Given the description of an element on the screen output the (x, y) to click on. 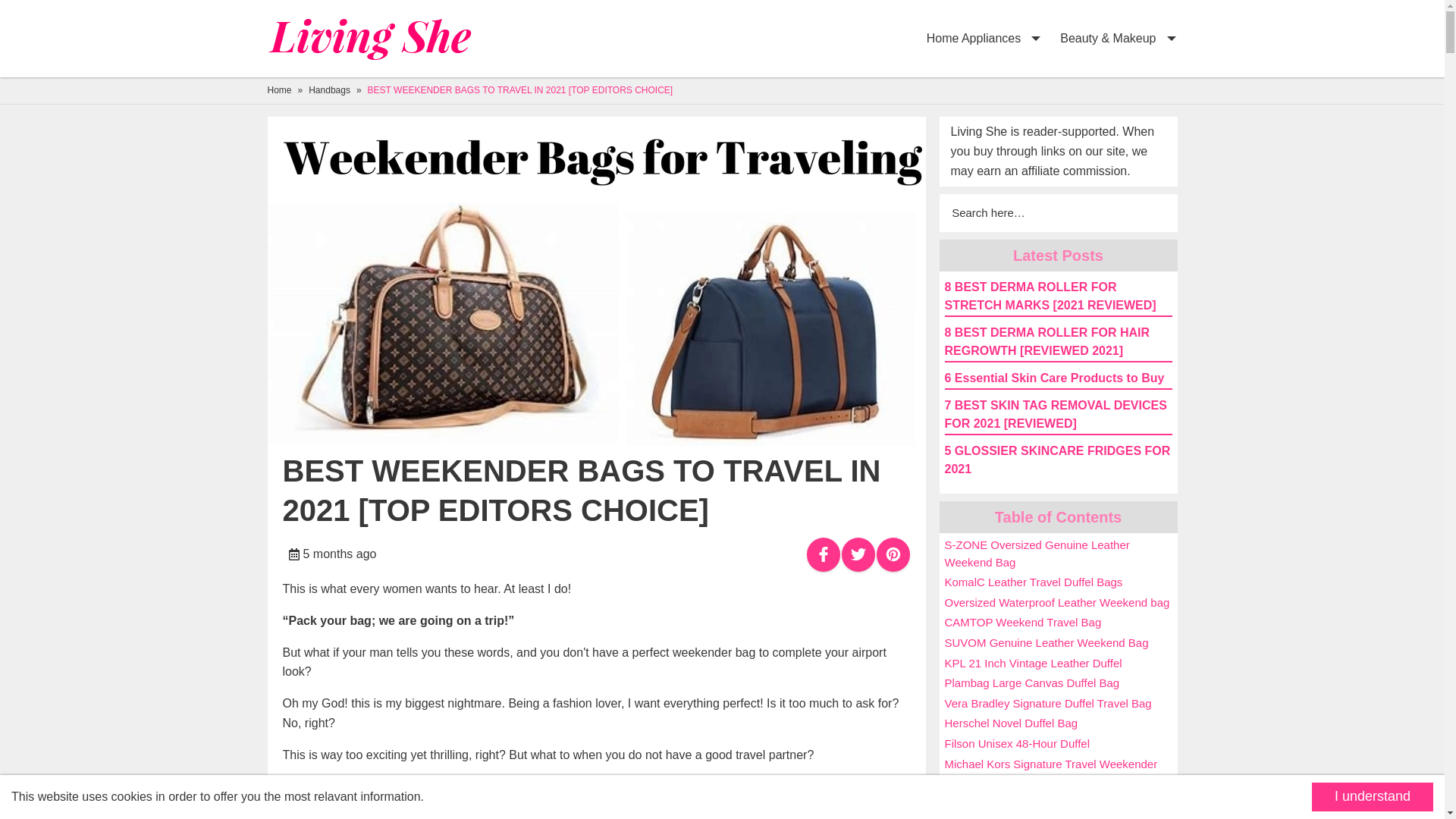
Herschel Novel Duffel Bag (1011, 722)
SUVOM Genuine Leather Weekend Bag (1046, 642)
Plambag Large Canvas Duffel Bag (1031, 682)
KomalC Leather Travel Duffel Bags (1033, 581)
Living She (376, 38)
Vera Bradley Signature Duffel Travel Bag (1047, 703)
The Friendly Swede Weekender Bag (1037, 803)
Oversized Waterproof Leather Weekend bag (1057, 602)
CAMTOP Weekend Travel Bag (1023, 621)
S-ZONE Oversized Genuine Leather Weekend Bag (1036, 553)
